Given the description of an element on the screen output the (x, y) to click on. 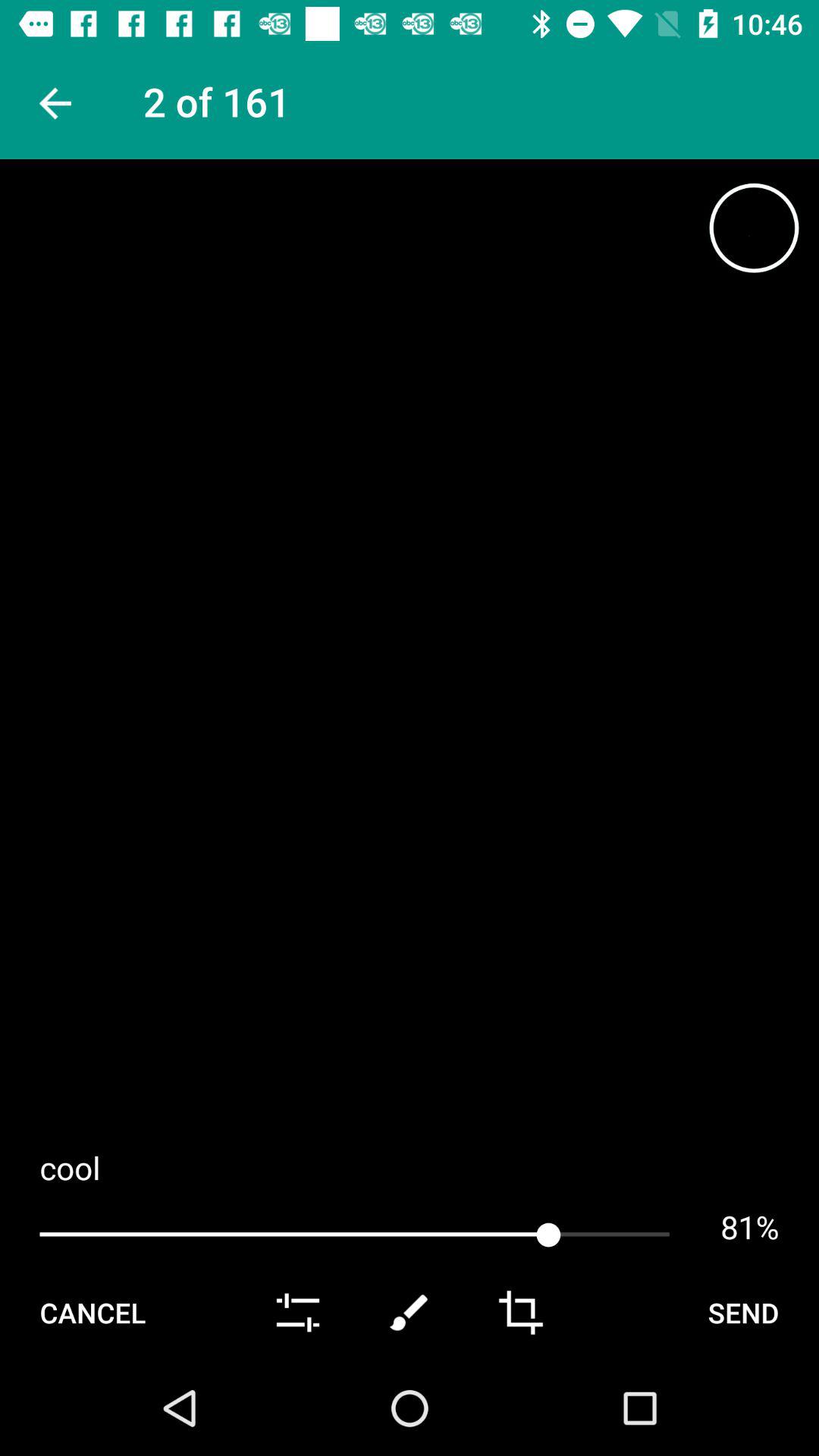
turn off the cancel icon (92, 1312)
